Given the description of an element on the screen output the (x, y) to click on. 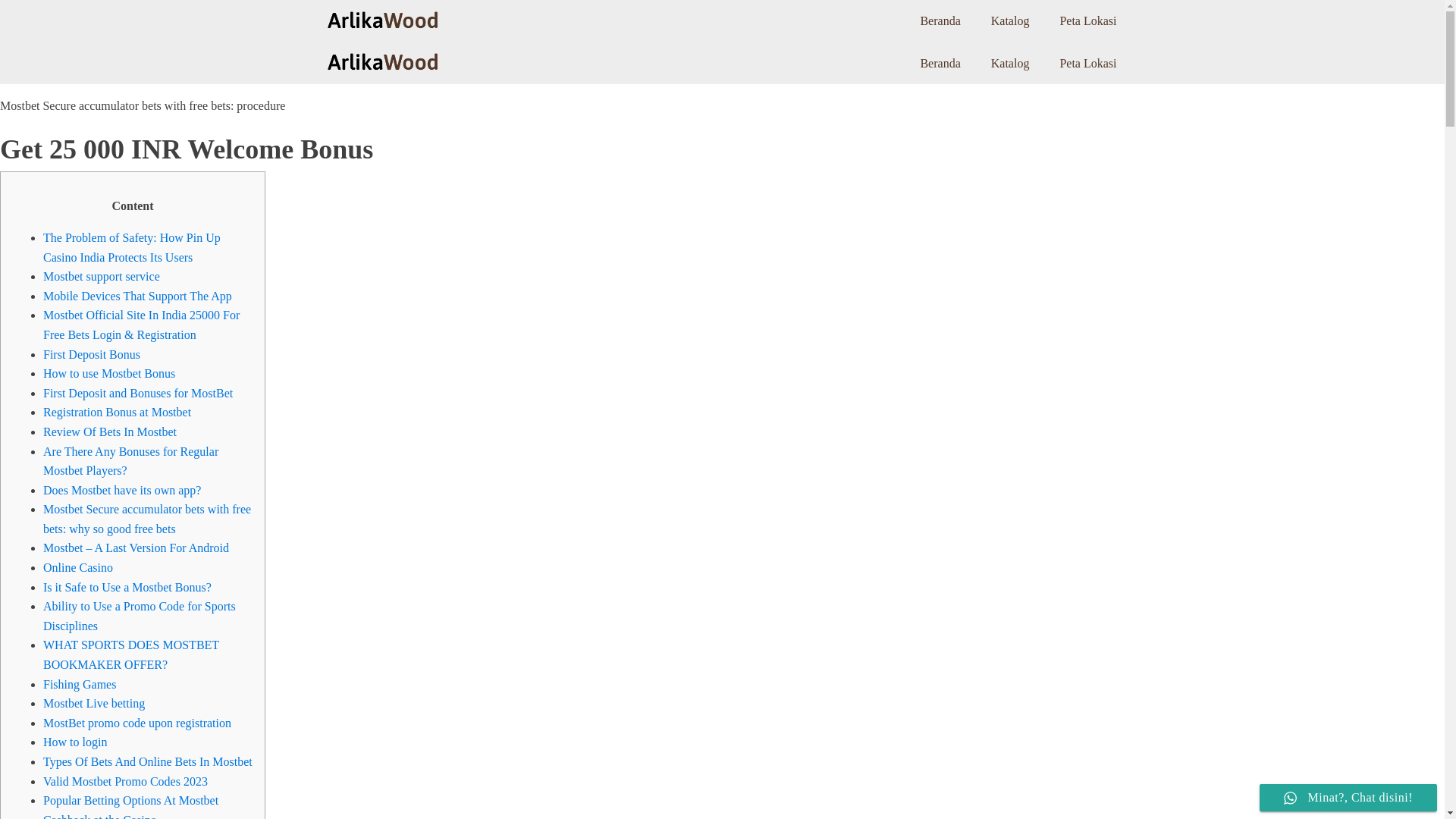
Is it Safe to Use a Mostbet Bonus? (127, 586)
Valid Mostbet Promo Codes 2023 (125, 780)
Popular Betting Options At Mostbet (130, 799)
Peta Lokasi (1087, 21)
How to use Mostbet Bonus (108, 373)
First Deposit and Bonuses for MostBet (137, 392)
Beranda (939, 21)
Peta Lokasi (1087, 63)
Katalog (1010, 63)
Registration Bonus at Mostbet (116, 411)
Beranda (939, 63)
Mostbet Live betting (93, 703)
Are There Any Bonuses for Regular Mostbet Players? (130, 460)
